Given the description of an element on the screen output the (x, y) to click on. 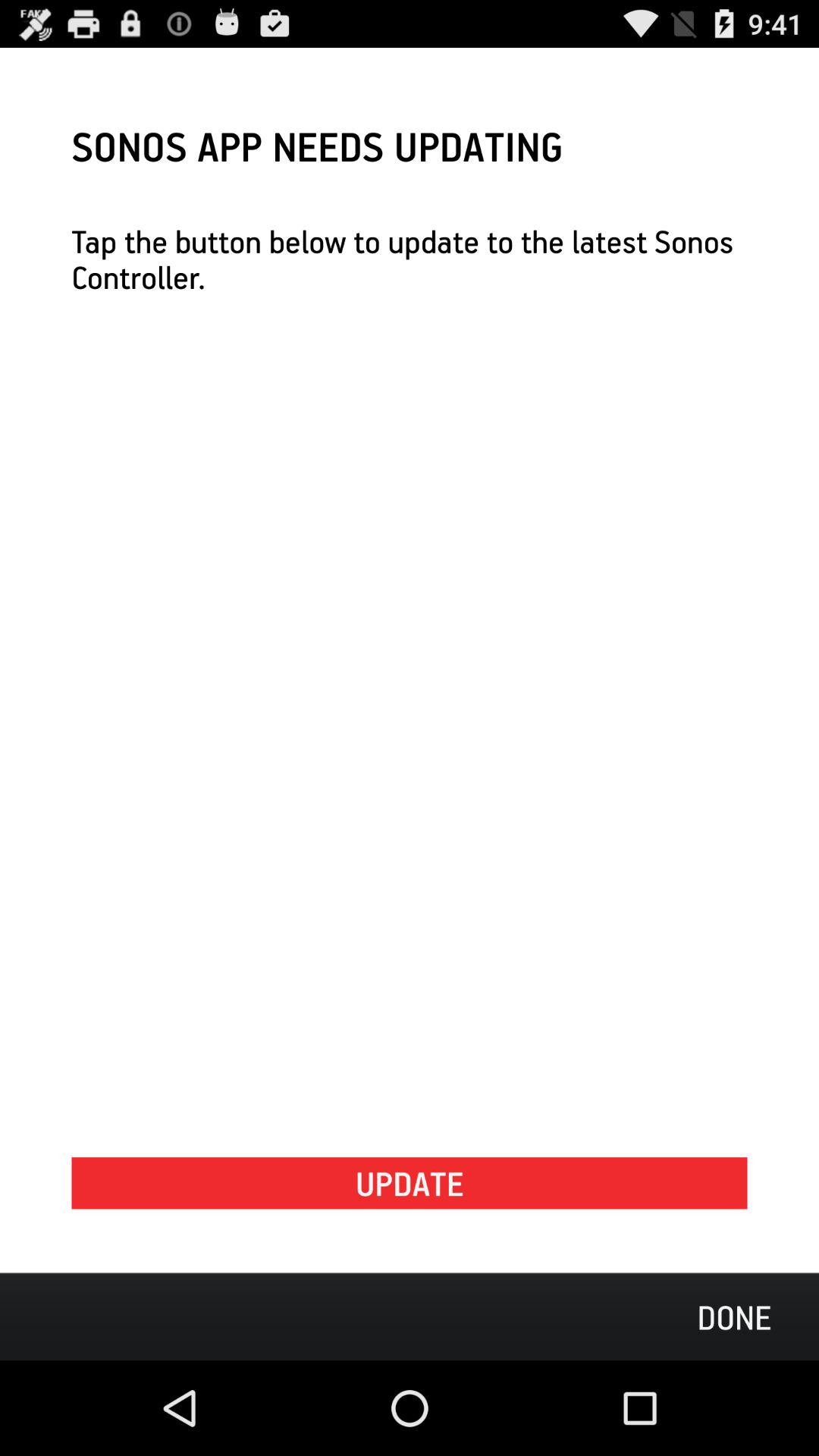
choose the done icon (734, 1316)
